Given the description of an element on the screen output the (x, y) to click on. 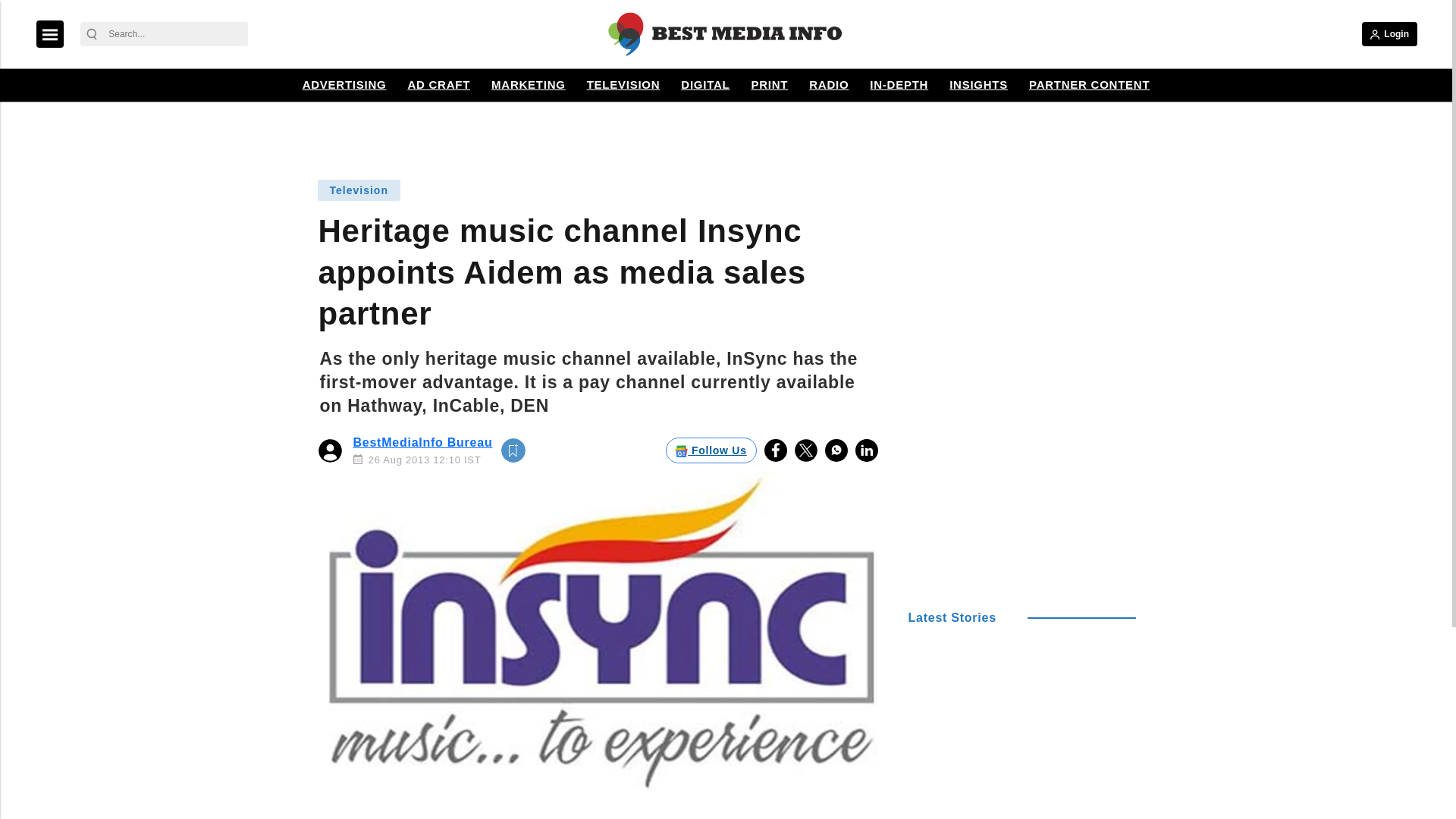
AD CRAFT (438, 84)
Login (1388, 33)
Follow Us (711, 450)
ADVERTISING (344, 84)
BestMediaInfo Bureau (423, 441)
PRINT (769, 84)
3rd party ad content (726, 131)
3rd party ad content (1021, 269)
IN-DEPTH (898, 84)
TELEVISION (622, 84)
